Given the description of an element on the screen output the (x, y) to click on. 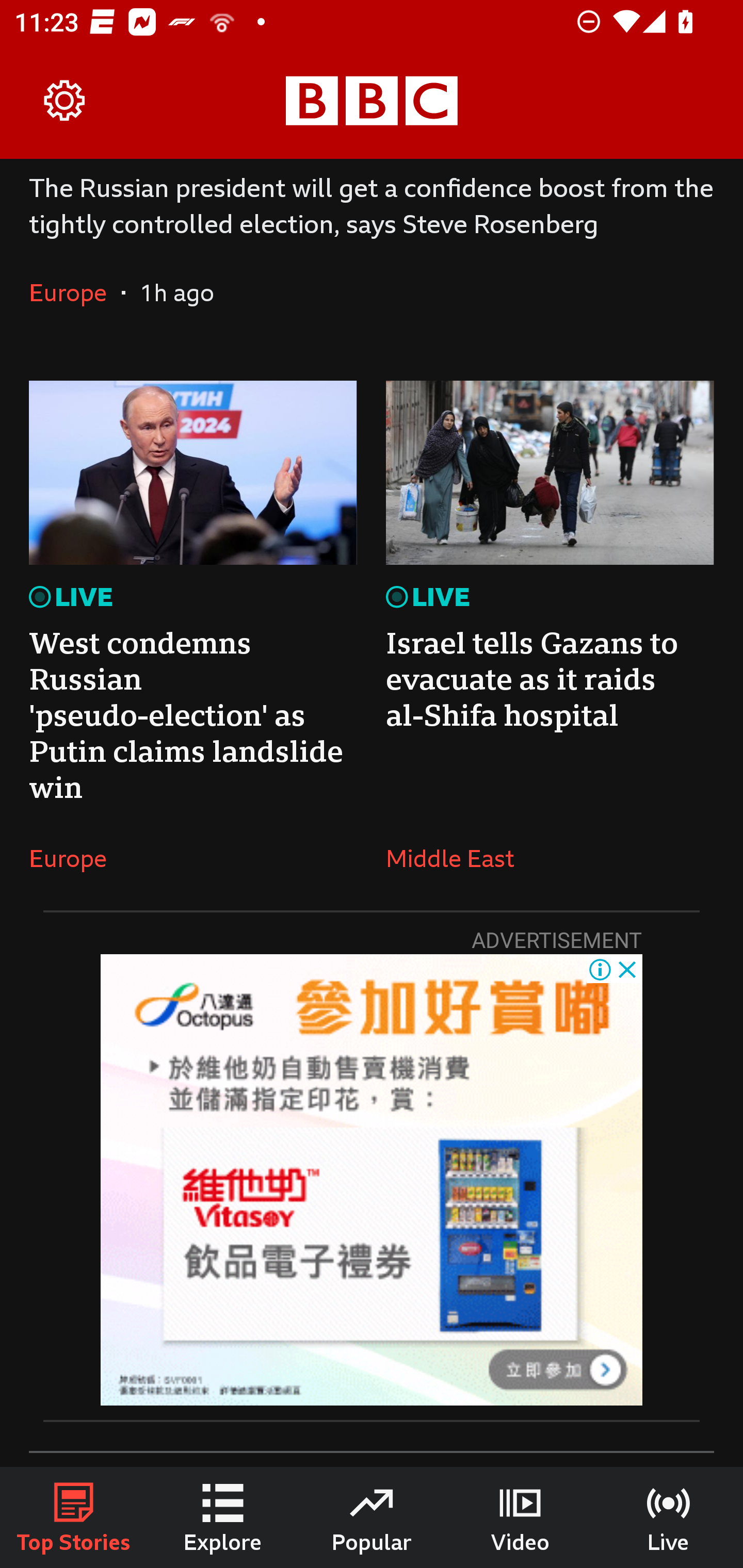
Settings (64, 100)
Europe In the section Europe (74, 291)
Europe In the section Europe (74, 858)
Middle East In the section Middle East (457, 858)
Advertisement (371, 1180)
Explore (222, 1517)
Popular (371, 1517)
Video (519, 1517)
Live (668, 1517)
